Given the description of an element on the screen output the (x, y) to click on. 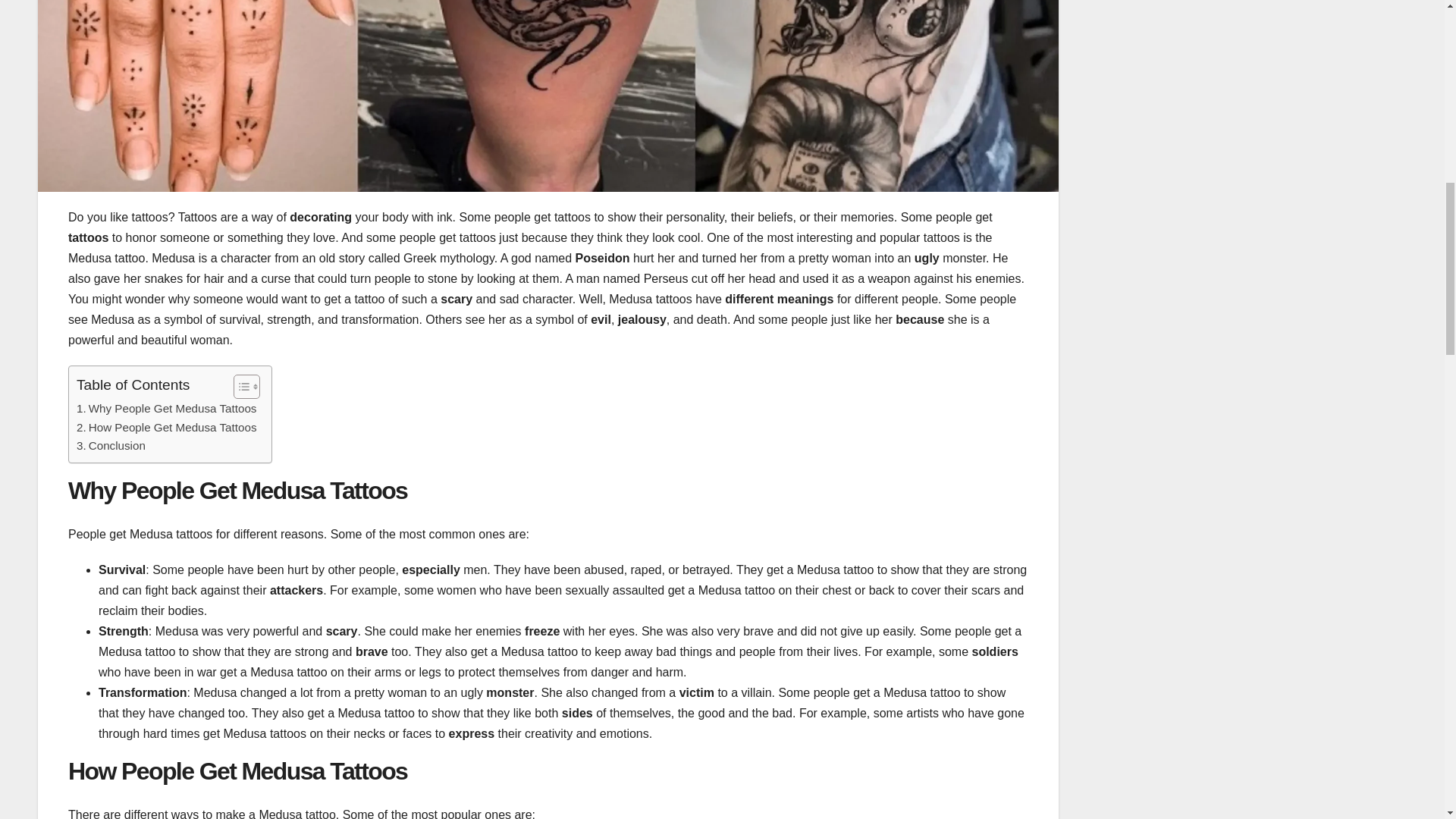
Conclusion (111, 445)
Why People Get Medusa Tattoos (166, 408)
Conclusion (111, 445)
How People Get Medusa Tattoos (166, 427)
Why People Get Medusa Tattoos (166, 408)
How People Get Medusa Tattoos (166, 427)
